Given the description of an element on the screen output the (x, y) to click on. 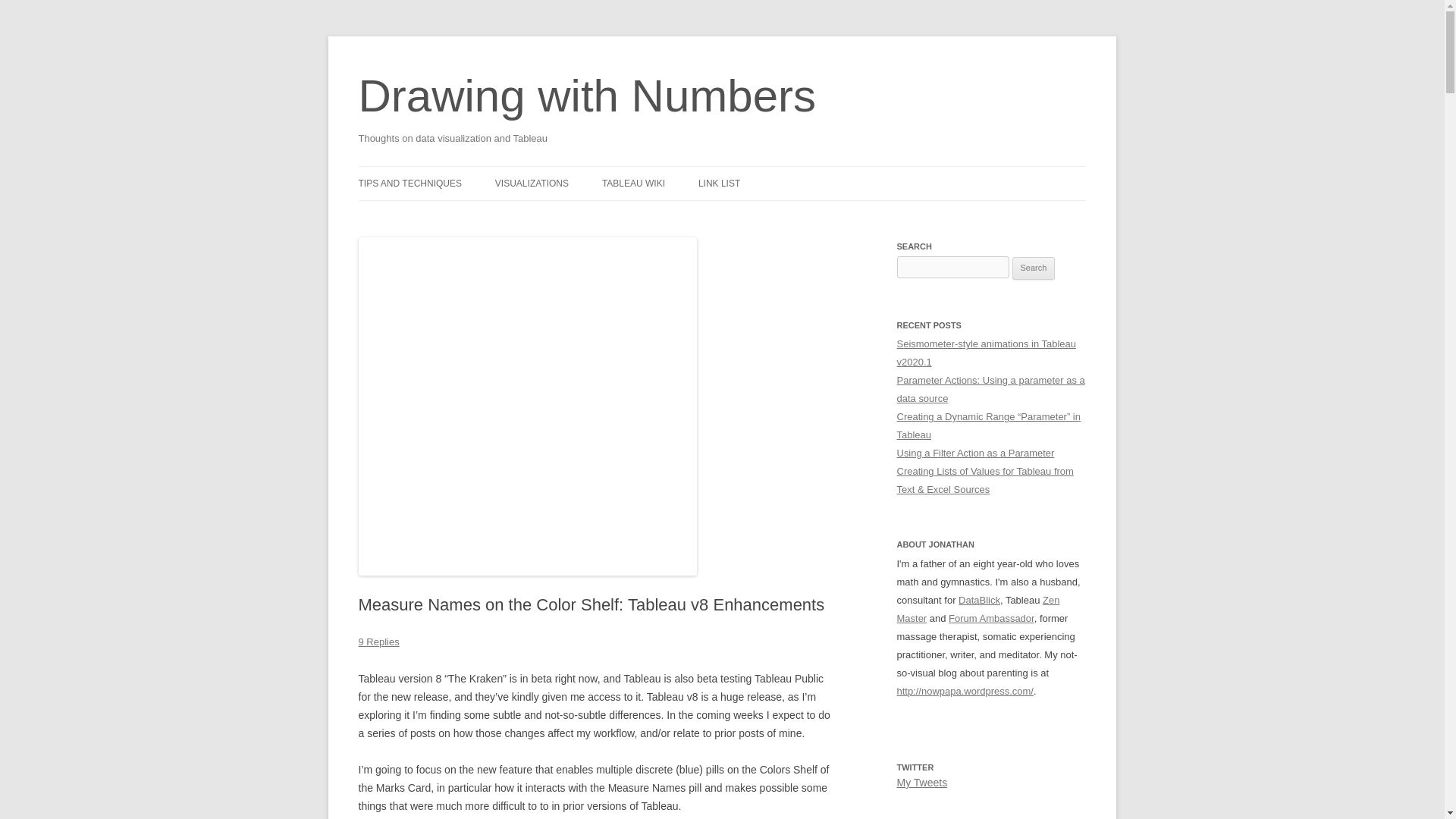
BASICS (678, 214)
Drawing with Numbers (586, 96)
Drawing with Numbers (586, 96)
TIPS AND TECHNIQUES (409, 183)
VISUALIZATIONS (532, 183)
Search (1033, 268)
TABLEAU WIKI (633, 183)
